Given the description of an element on the screen output the (x, y) to click on. 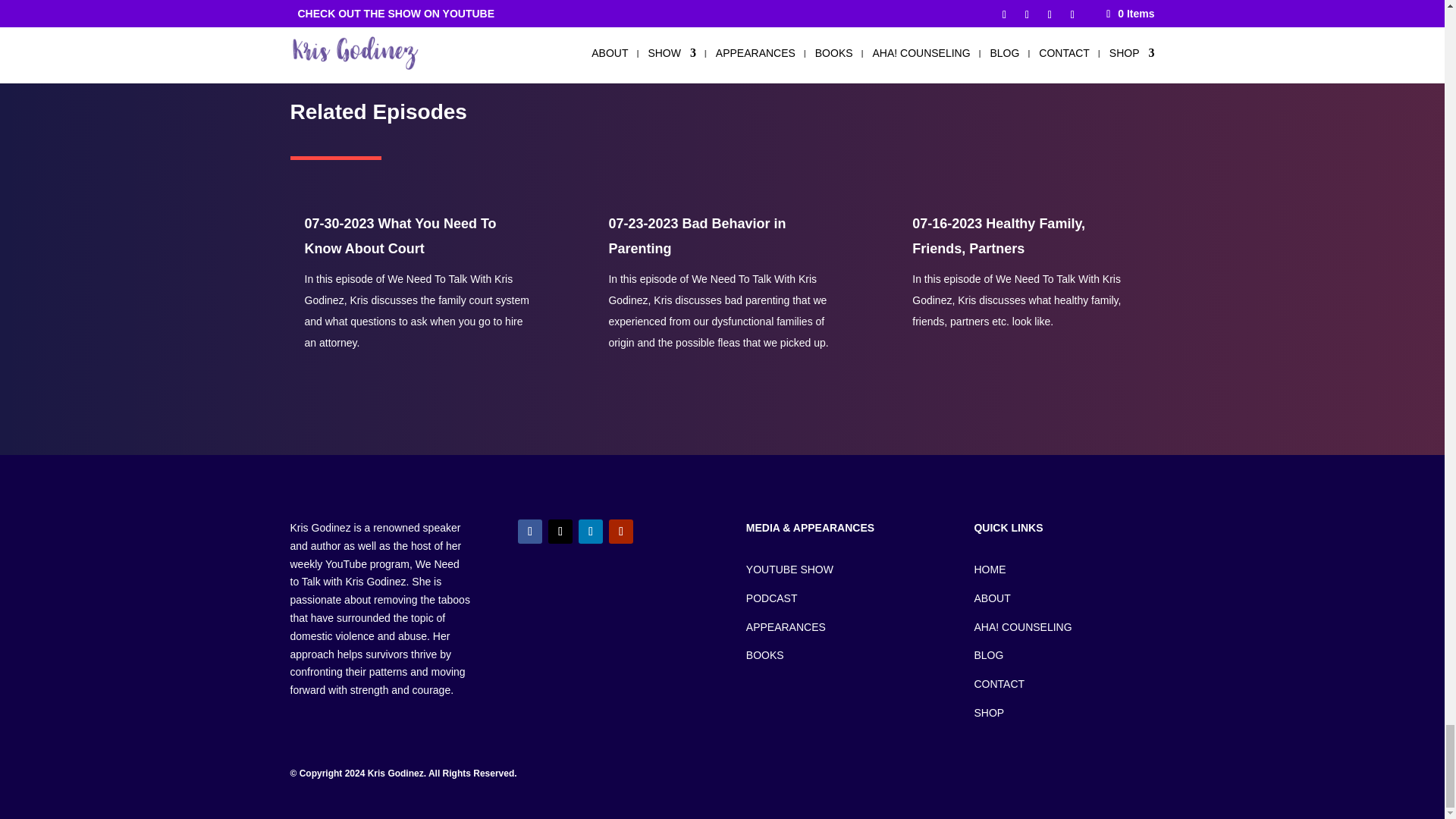
Follow on LinkedIn (590, 531)
Follow on Facebook (529, 531)
07-23-2023 Bad Behavior in Parenting (697, 235)
Follow on X (560, 531)
YOUTUBE SHOW (788, 569)
07-30-2023 What You Need To Know About Court (400, 235)
Follow on Youtube (620, 531)
07-16-2023 Healthy Family, Friends, Partners (998, 235)
